Given the description of an element on the screen output the (x, y) to click on. 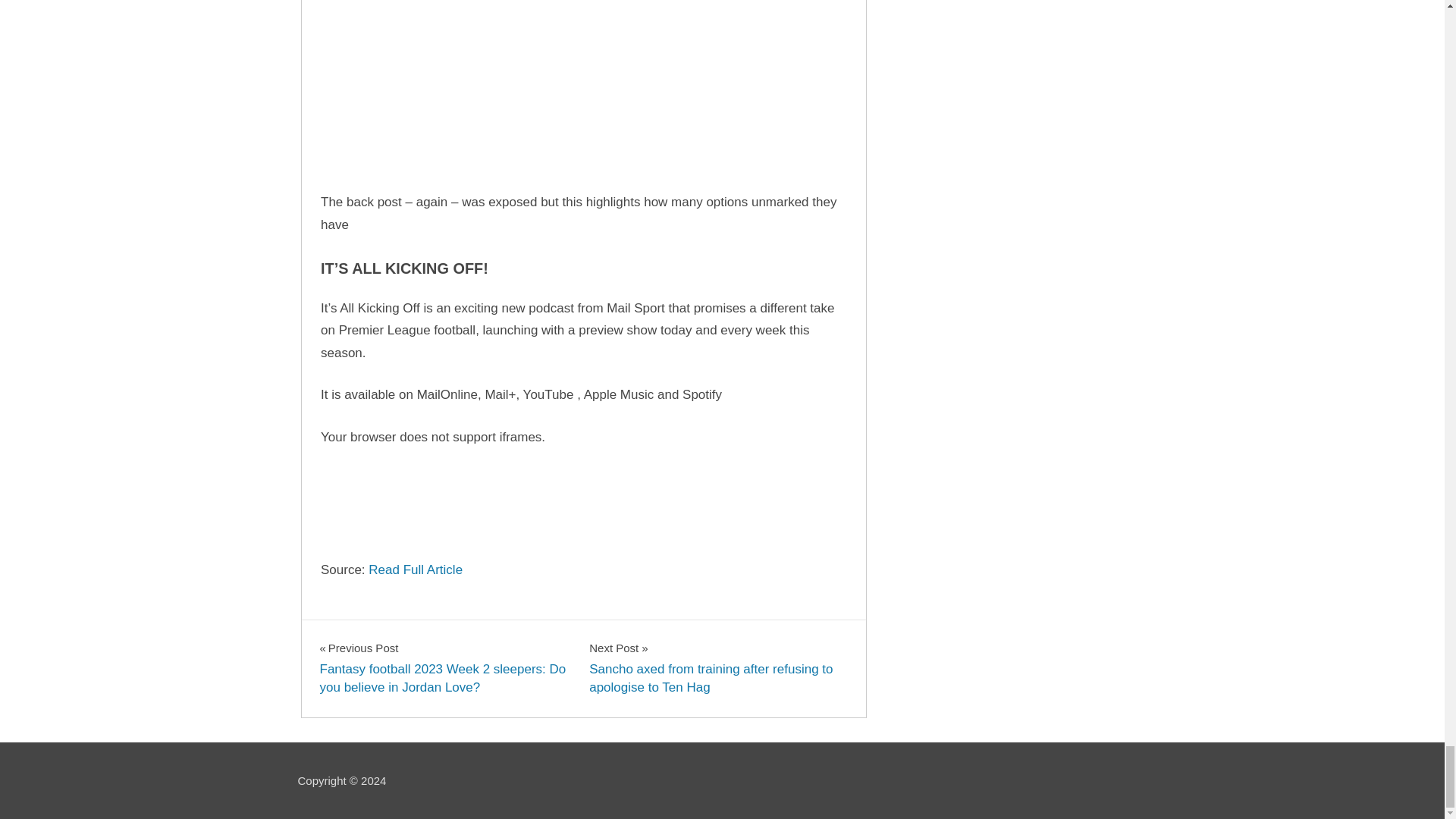
SOCCER (351, 635)
Read Full Article (415, 569)
